Given the description of an element on the screen output the (x, y) to click on. 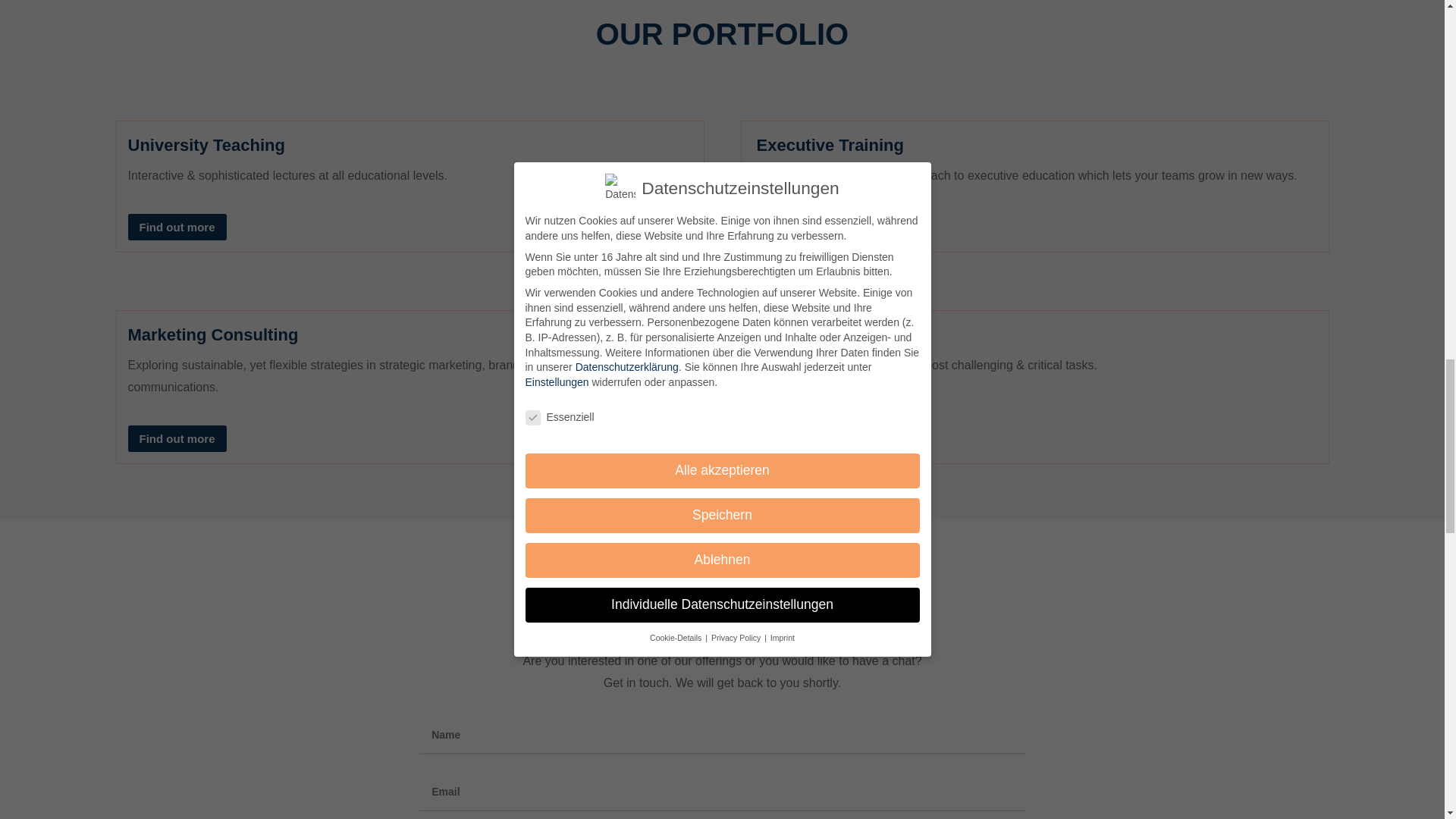
Find out more (801, 438)
Find out more (176, 438)
Find out more (801, 226)
Find out more (176, 226)
